Given the description of an element on the screen output the (x, y) to click on. 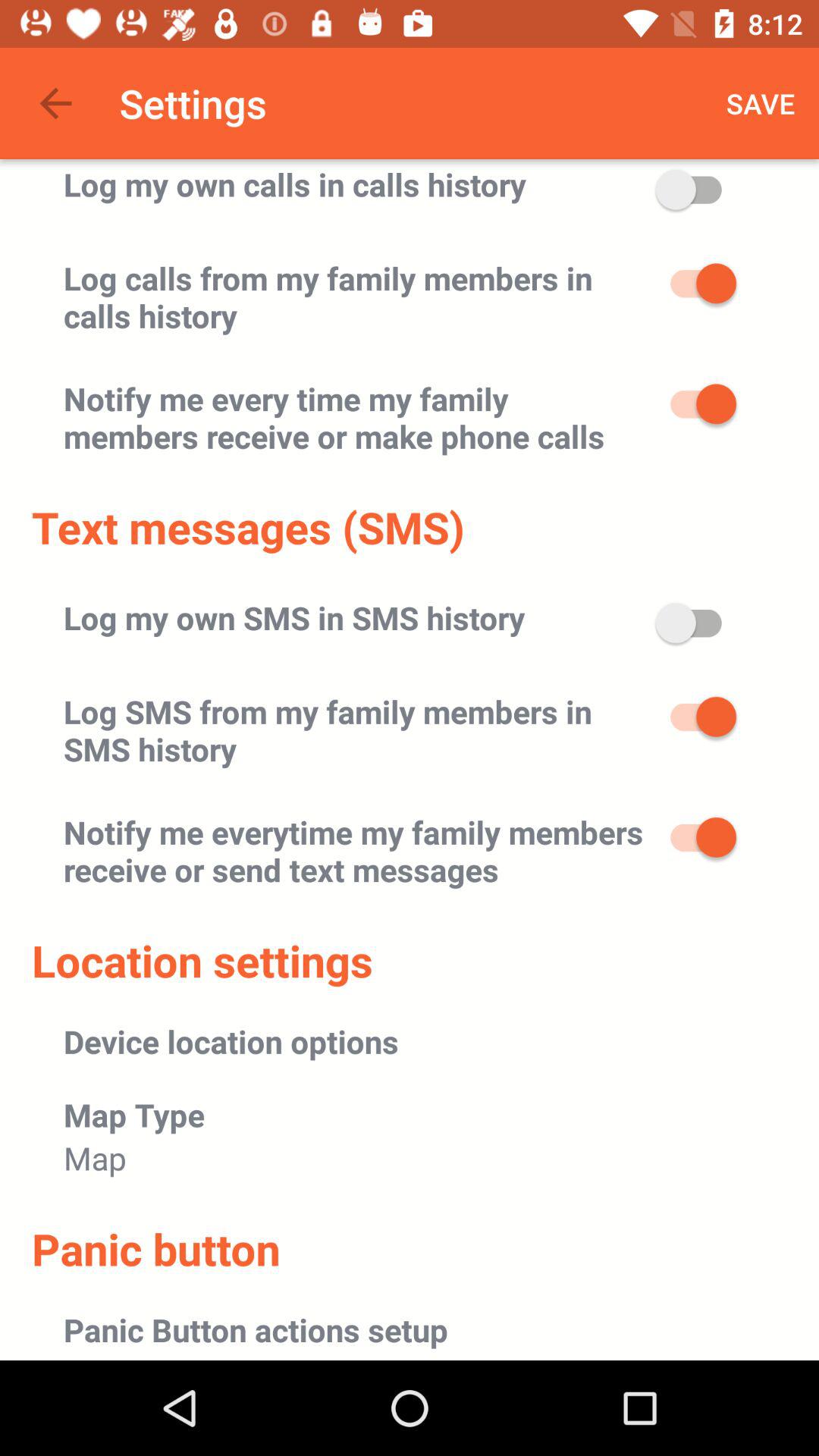
flip to the location settings (202, 960)
